Given the description of an element on the screen output the (x, y) to click on. 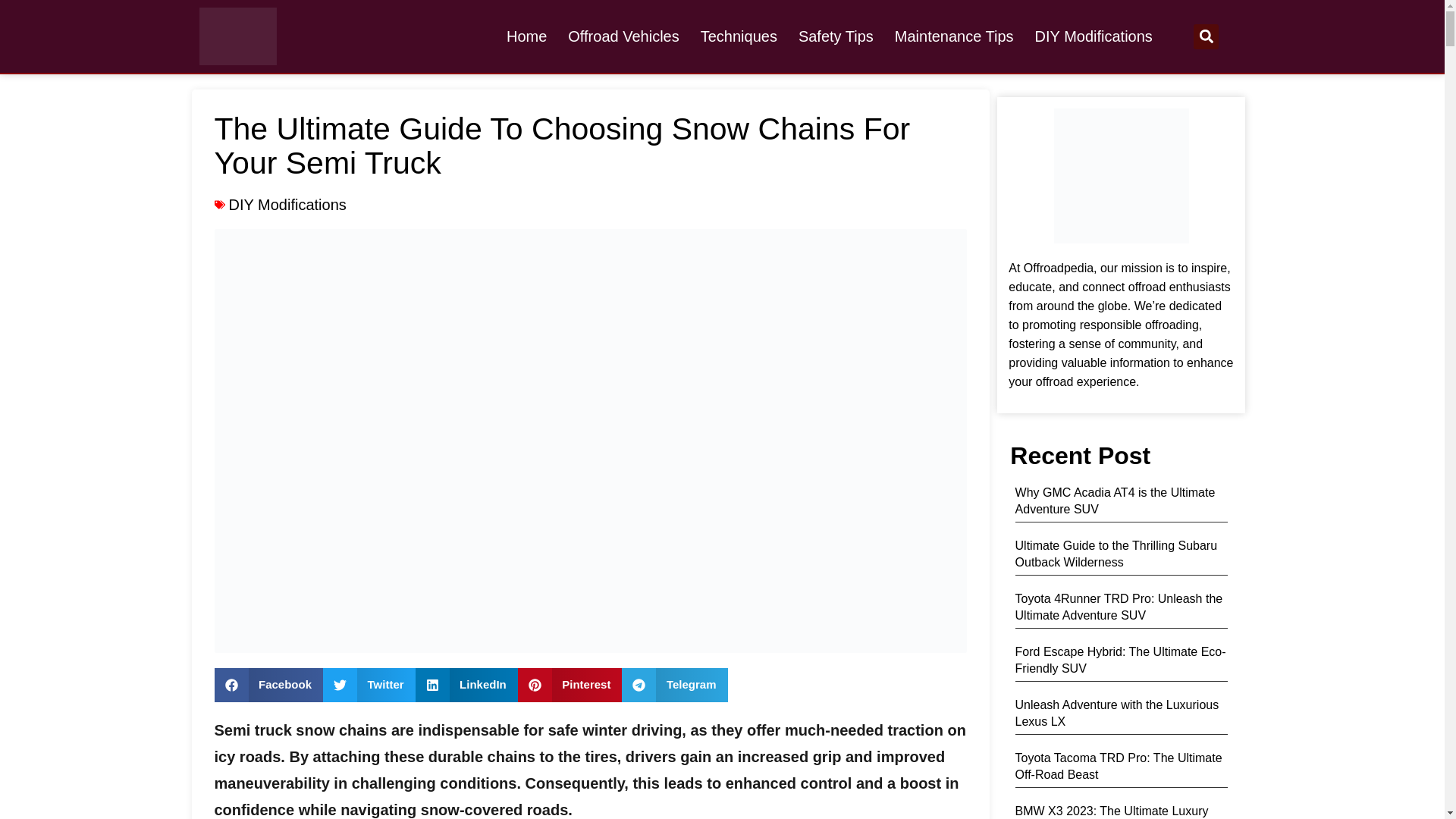
DIY Modifications (1094, 36)
DIY Modifications (287, 204)
Maintenance Tips (954, 36)
Techniques (738, 36)
Safety Tips (835, 36)
Offroad Vehicles (622, 36)
Home (526, 36)
